Given the description of an element on the screen output the (x, y) to click on. 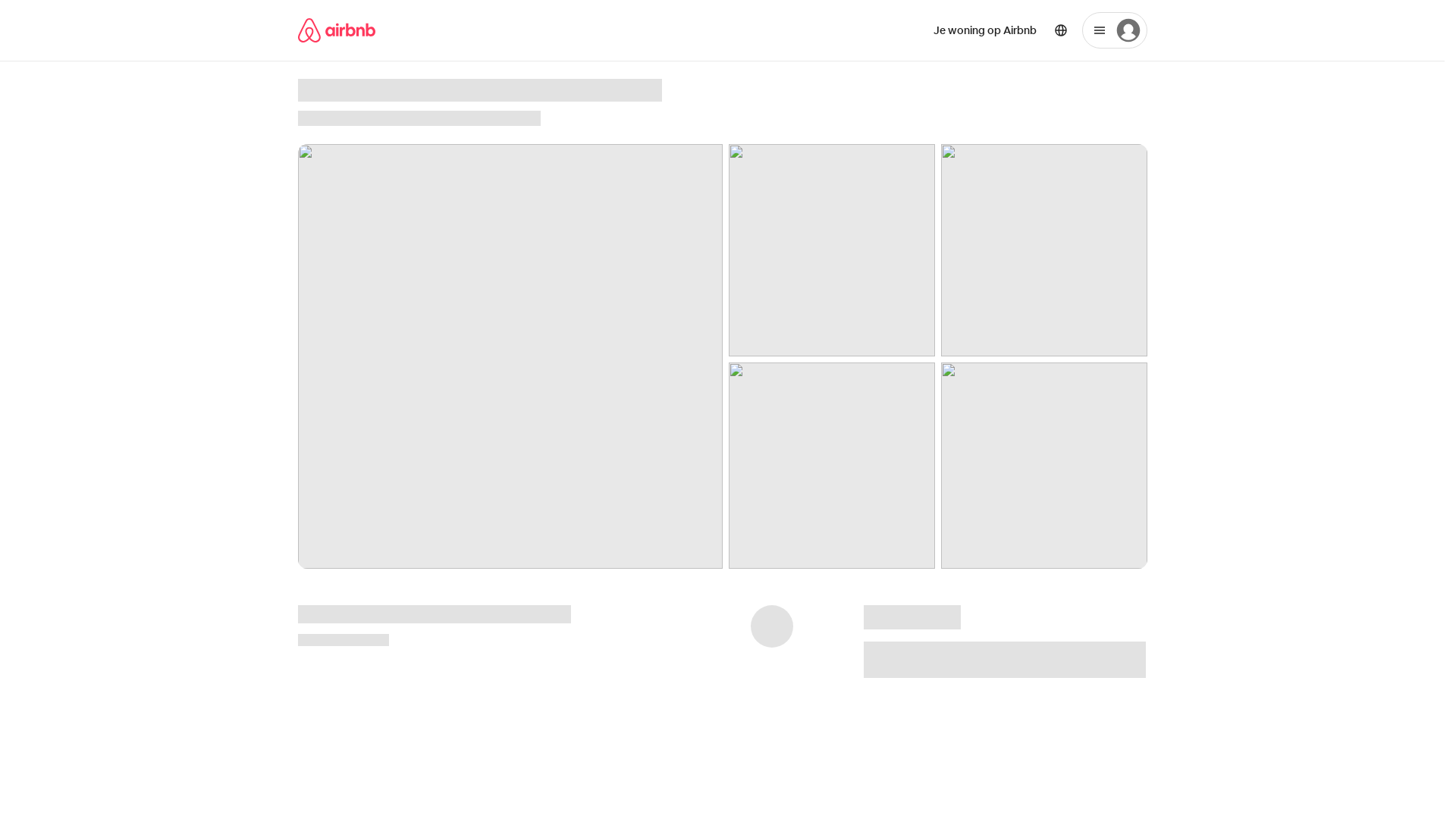
Je woning op Airbnb Element type: text (983, 30)
